Given the description of an element on the screen output the (x, y) to click on. 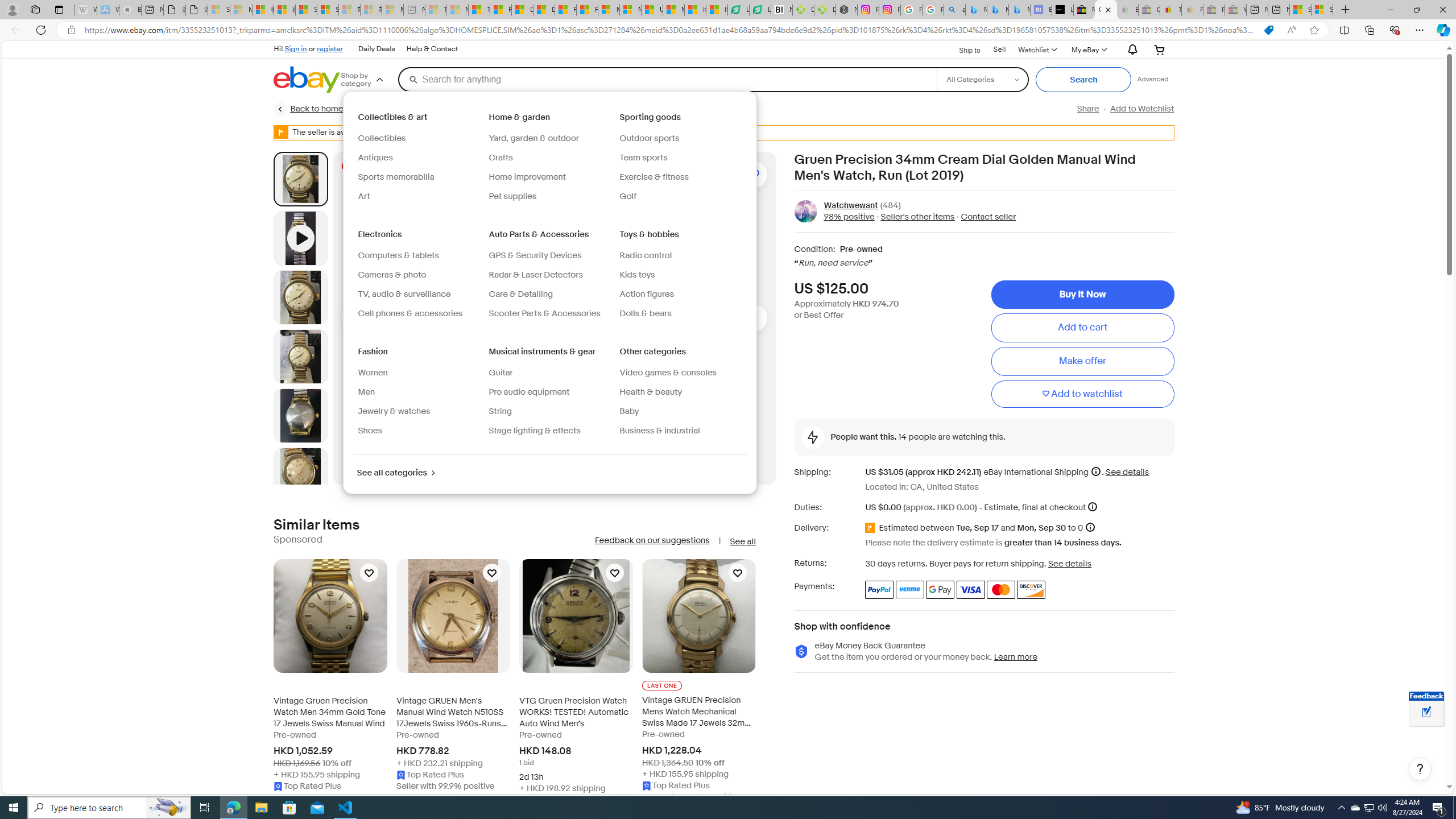
Nvidia va a poner a prueba la paciencia de los inversores (781, 9)
Musical instruments & gear (542, 351)
Ship to (962, 50)
Buy It Now (1082, 294)
My eBayExpand My eBay (1088, 49)
Action figures (679, 294)
Sports memorabilia (418, 176)
Your shopping cart (1159, 49)
Daily Deals (376, 49)
Payments Terms of Use | eBay.com - Sleeping (1192, 9)
